Given the description of an element on the screen output the (x, y) to click on. 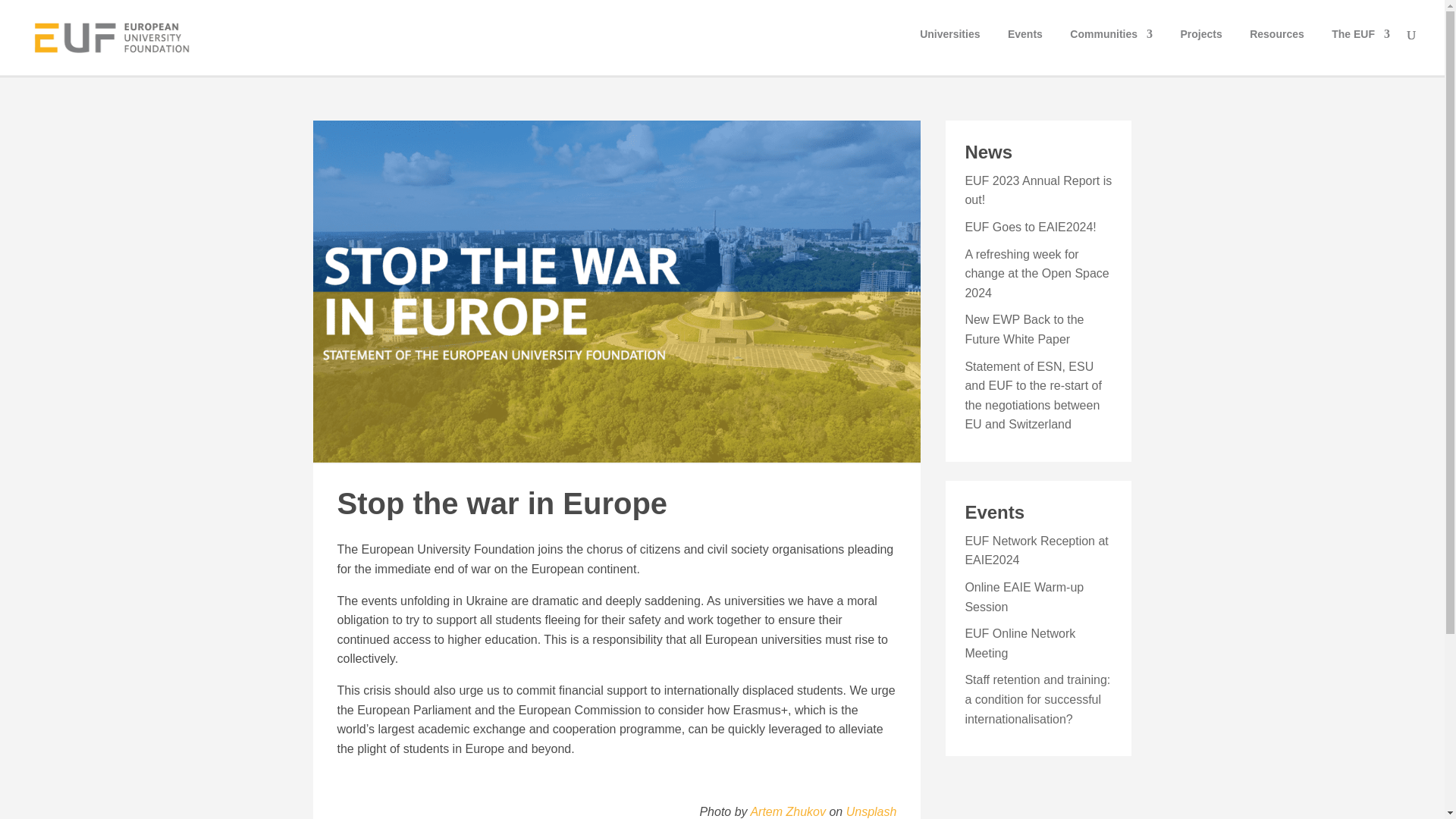
Artem Zhukov (787, 811)
Resources (1276, 47)
EUF Goes to EAIE2024! (1029, 226)
Universities (949, 47)
EUF 2023 Annual Report is out! (1037, 190)
The EUF (1361, 47)
Projects (1200, 47)
Communities (1111, 47)
Unsplash (870, 811)
A refreshing week for change at the Open Space 2024 (1035, 273)
